Given the description of an element on the screen output the (x, y) to click on. 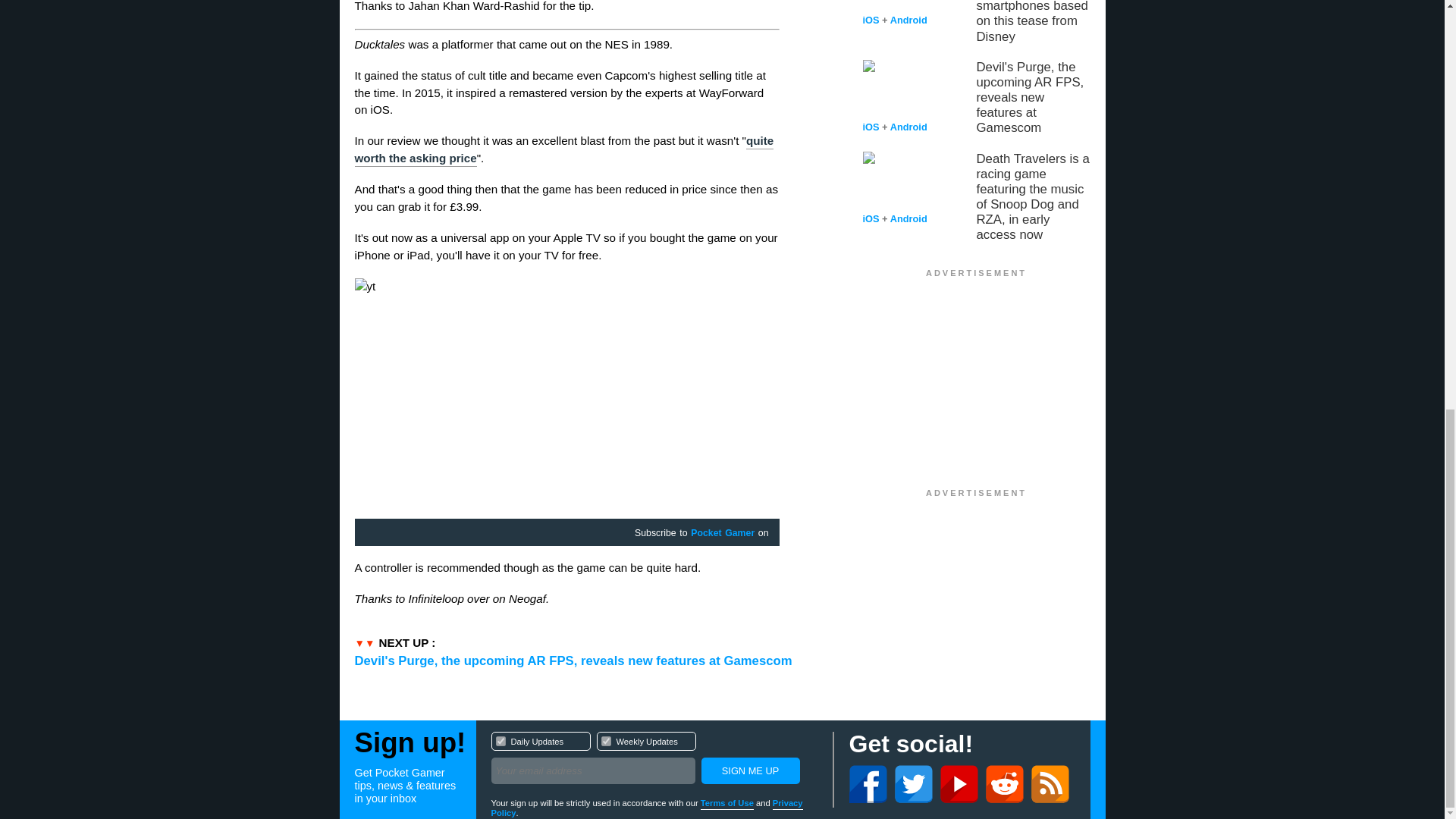
1 (500, 741)
quite worth the asking price (564, 150)
Pocket Gamer (722, 533)
Sign Me Up (654, 759)
Sign Me Up (749, 770)
Terms of Use (749, 770)
2 (727, 803)
